Given the description of an element on the screen output the (x, y) to click on. 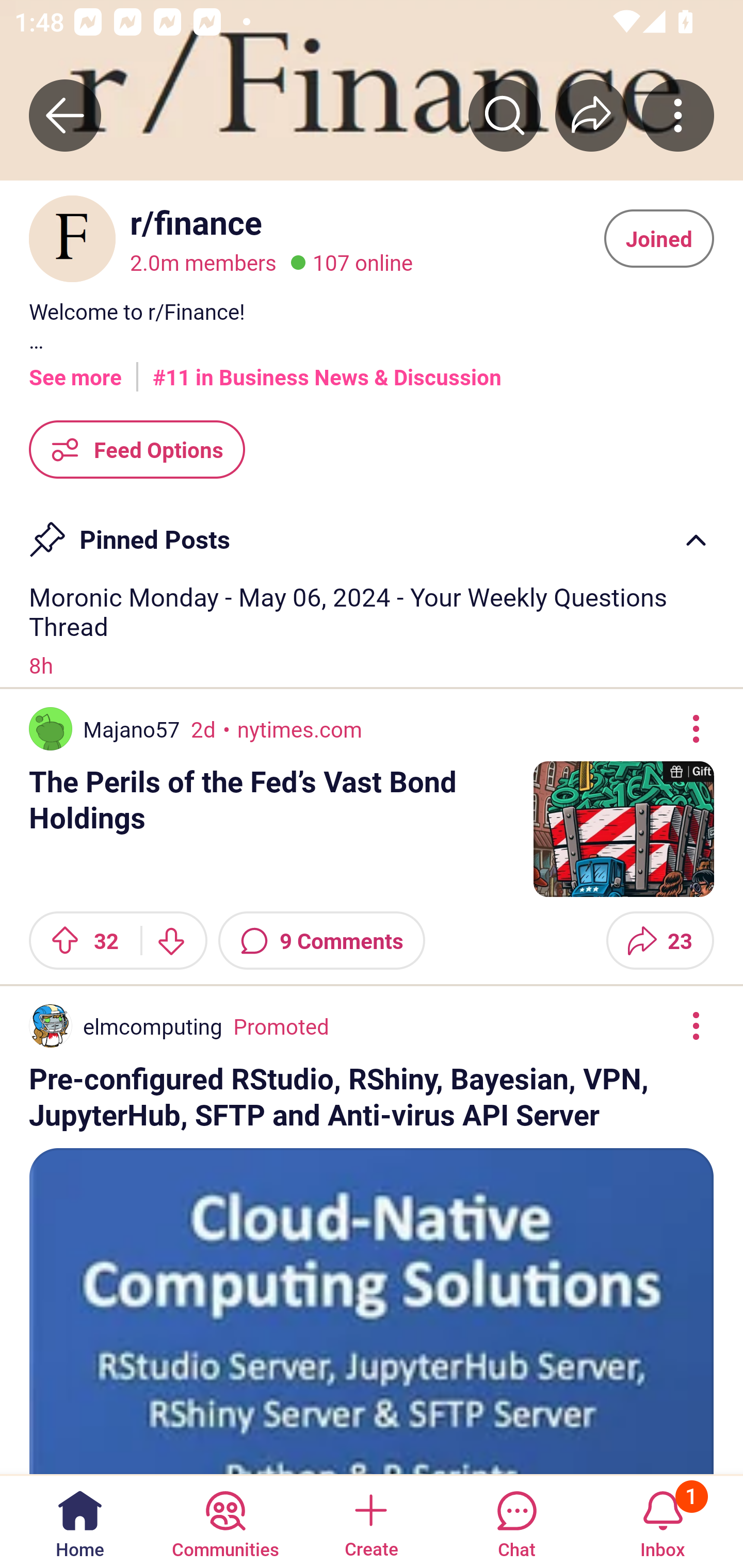
Back (64, 115)
Search r/﻿finance (504, 115)
Share r/﻿finance (591, 115)
More community actions (677, 115)
See more (74, 369)
#11 in Business News & Discussion (327, 369)
Feed Options (136, 449)
Pin Pinned Posts Caret (371, 532)
Home (80, 1520)
Communities (225, 1520)
Create a post Create (370, 1520)
Chat (516, 1520)
Inbox, has 1 notification 1 Inbox (662, 1520)
